Given the description of an element on the screen output the (x, y) to click on. 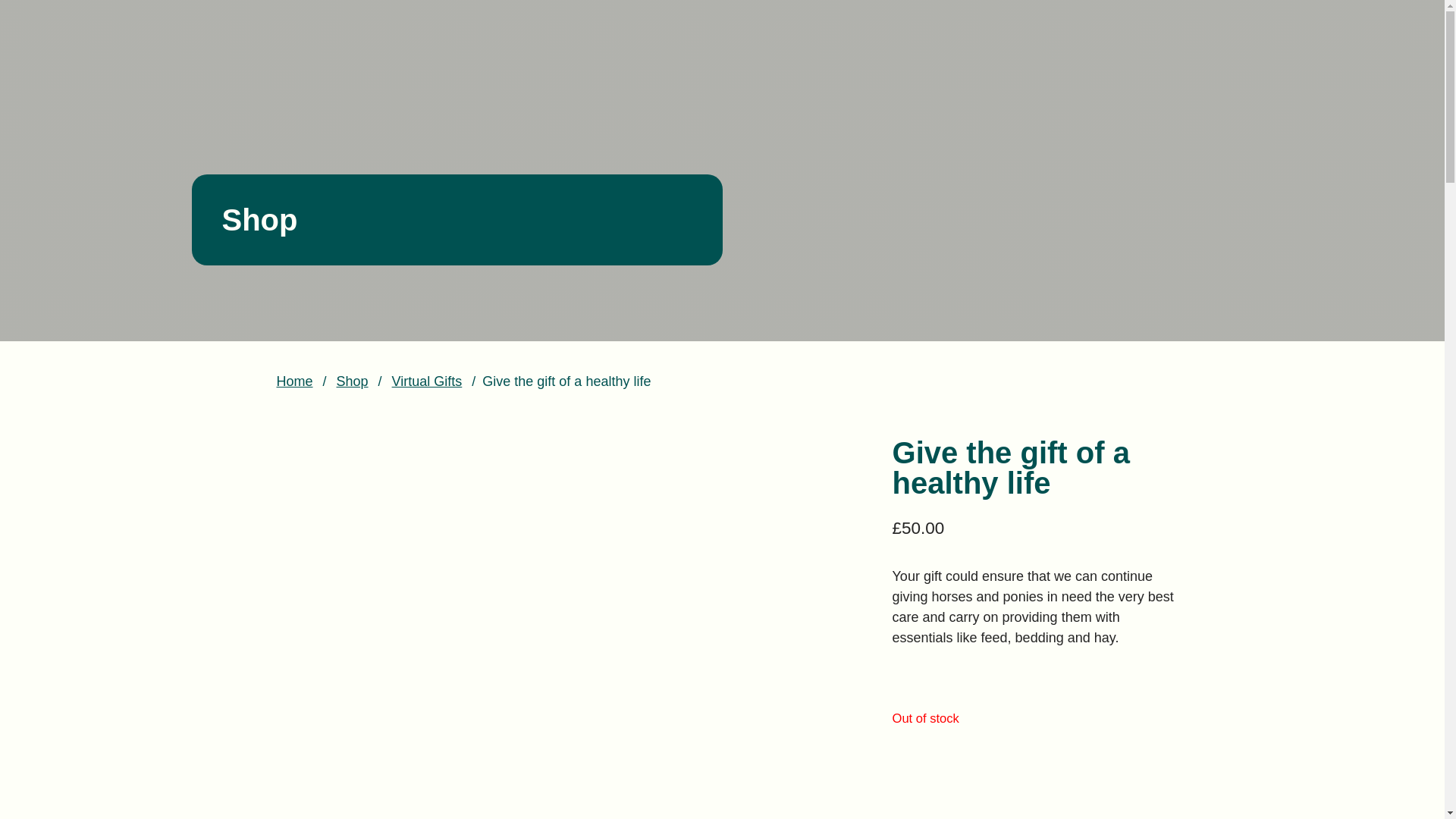
Shop (352, 381)
Home (294, 381)
Virtual Gifts (426, 381)
